Given the description of an element on the screen output the (x, y) to click on. 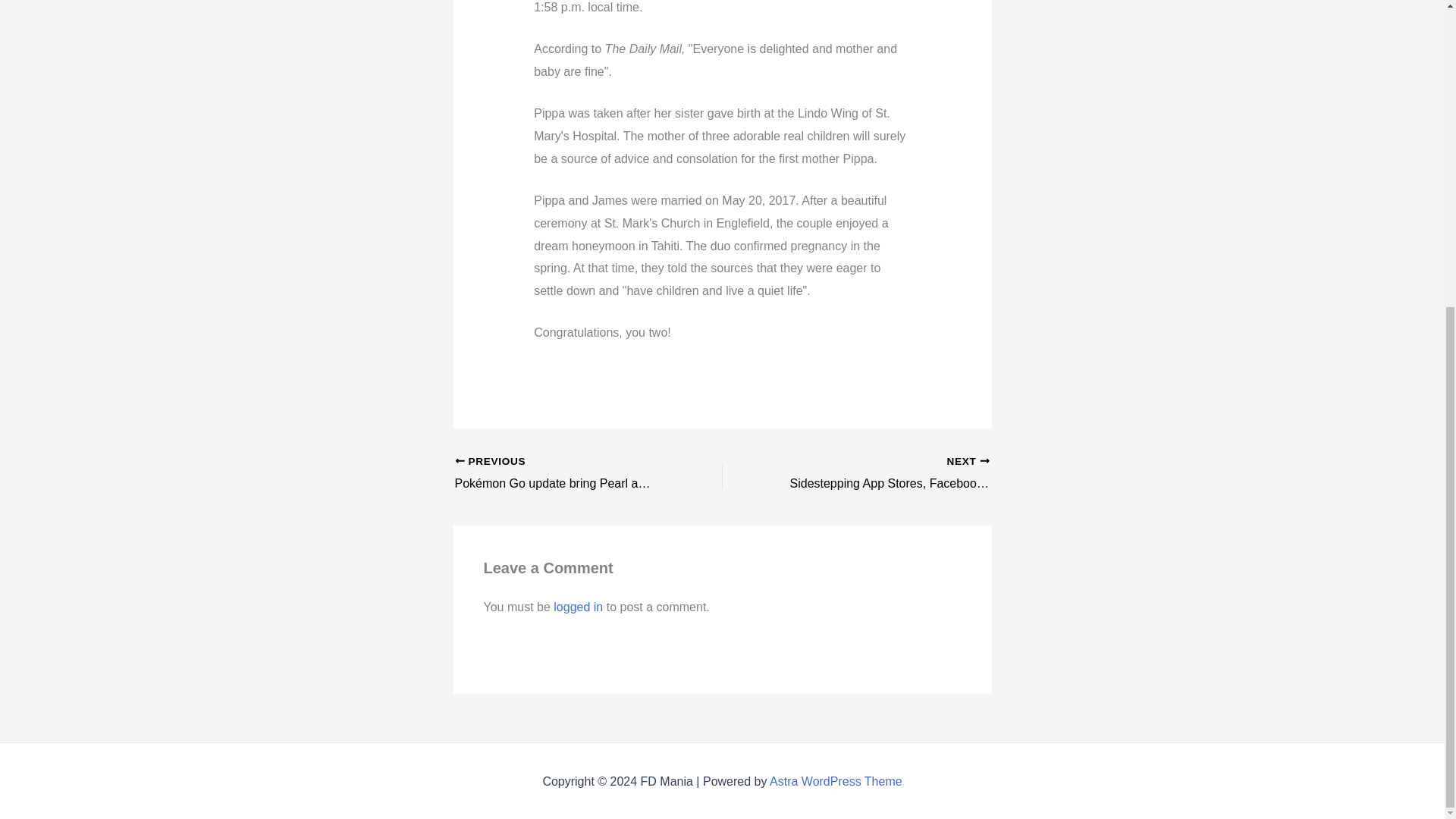
logged in (577, 606)
Astra WordPress Theme (836, 780)
